Given the description of an element on the screen output the (x, y) to click on. 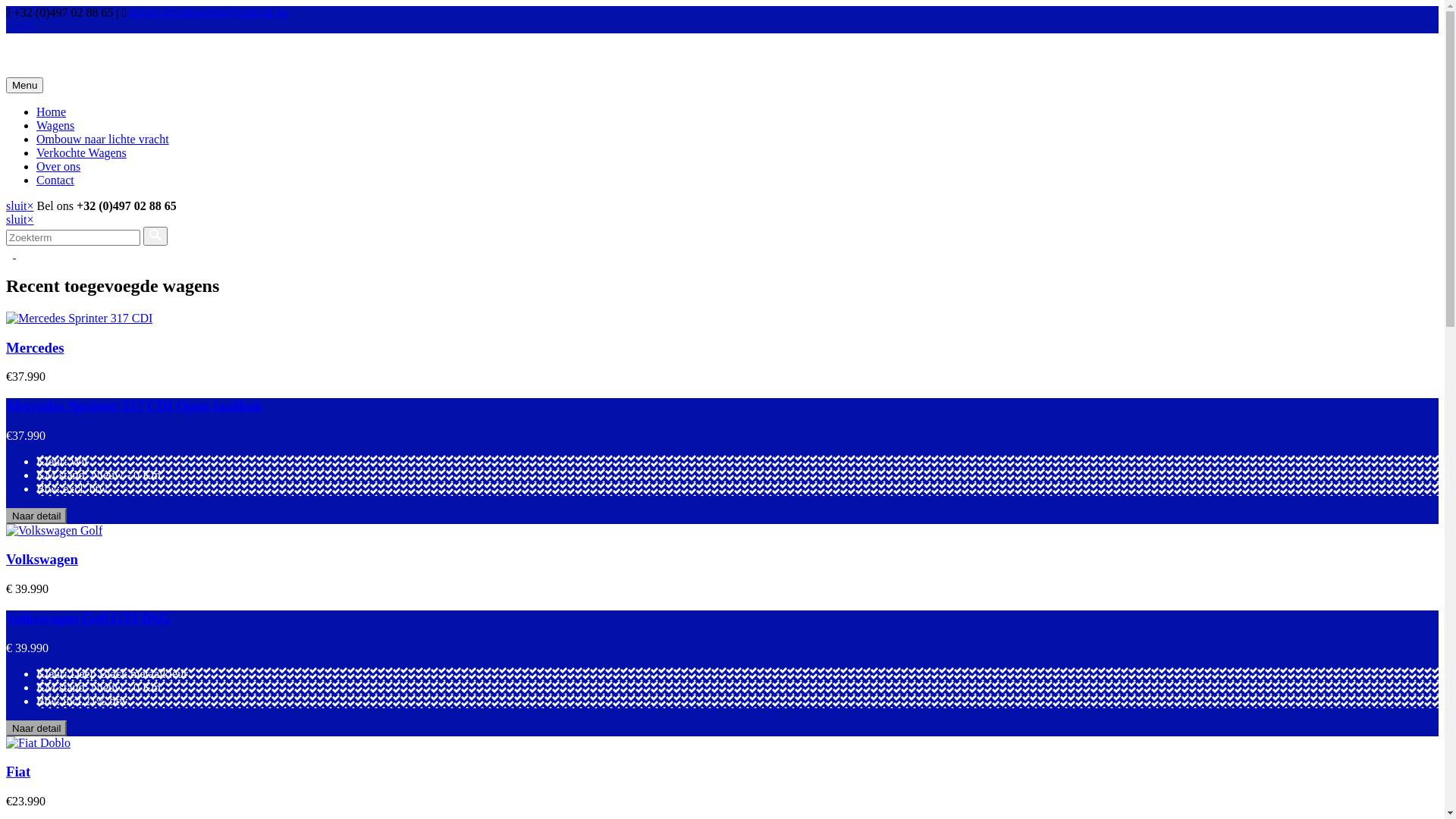
autotradingdewinne@outlook.be Element type: text (208, 12)
Ombouw naar lichte vracht Element type: text (102, 138)
Naar detail Element type: text (36, 728)
Naar detail Element type: text (722, 728)
Naar detail Element type: text (36, 516)
Home Element type: text (50, 111)
Volkswagen Element type: text (42, 559)
 Mercedes   Sprinter 317 CDI Element type: hover (79, 318)
Fiat Element type: text (18, 771)
Over ons Element type: text (58, 166)
Wagens Element type: text (55, 125)
Mercedes Element type: text (35, 347)
Contact Element type: text (55, 179)
Verkochte Wagens Element type: text (81, 152)
Menu Element type: text (24, 85)
 Fiat  Doblo  Element type: hover (38, 742)
Naar detail Element type: text (722, 516)
Volkswagen Golf GTI DSG Element type: text (88, 618)
Mercedes Sprinter 317 CDI Open laadbak Element type: text (134, 406)
 Fiat  Doblo  Element type: hover (38, 742)
Versturen Element type: text (155, 235)
Volkswagen   Golf Element type: hover (54, 530)
Volkswagen   Golf Element type: hover (54, 530)
 Mercedes   Sprinter 317 CDI Element type: hover (79, 317)
